Given the description of an element on the screen output the (x, y) to click on. 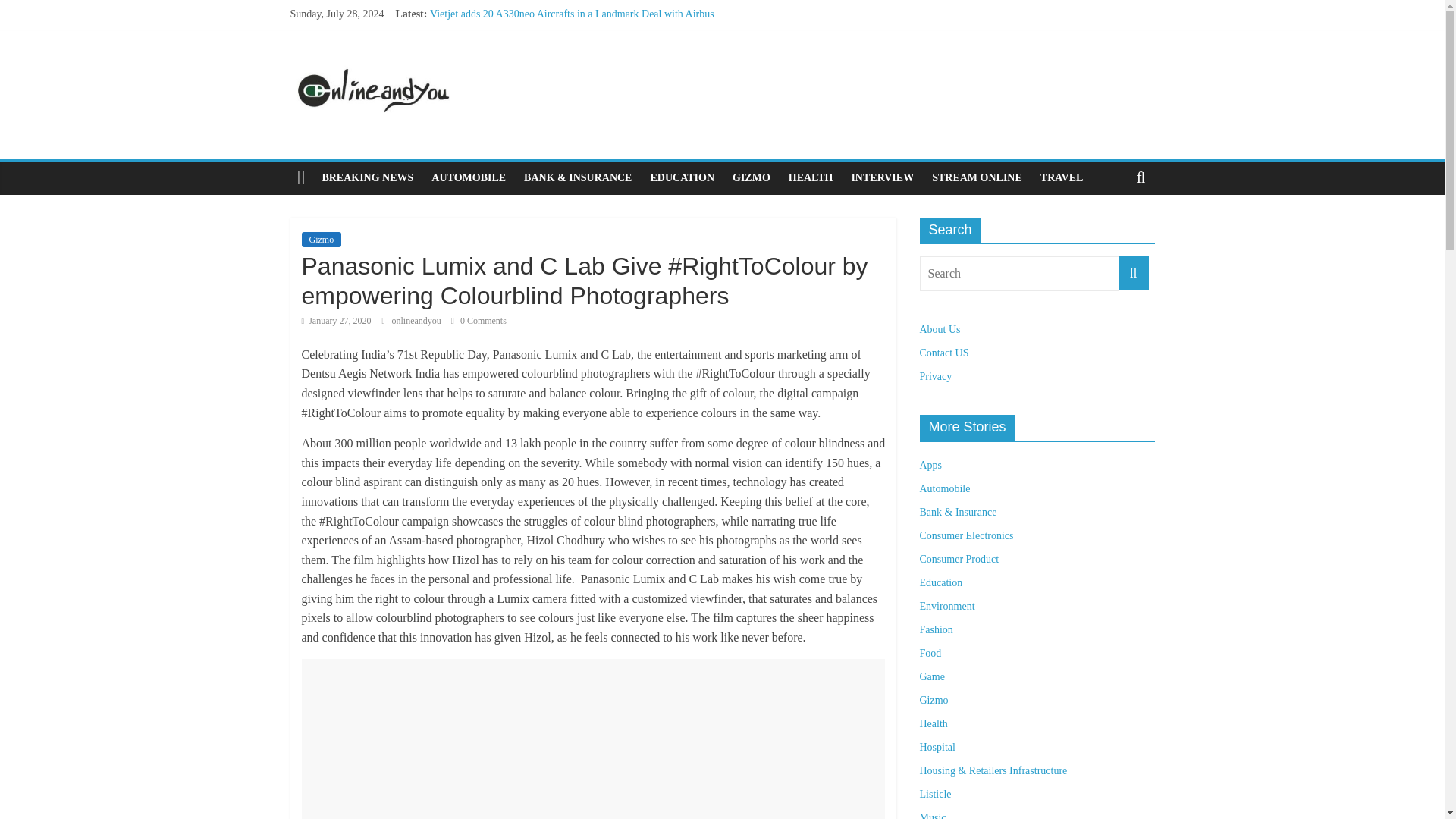
STREAM ONLINE (976, 178)
Gizmo (321, 239)
AUTOMOBILE (468, 178)
INTERVIEW (882, 178)
8:55 pm (336, 320)
0 Comments (478, 320)
BREAKING NEWS (367, 178)
TRAVEL (1061, 178)
onlineandyou (417, 320)
